Given the description of an element on the screen output the (x, y) to click on. 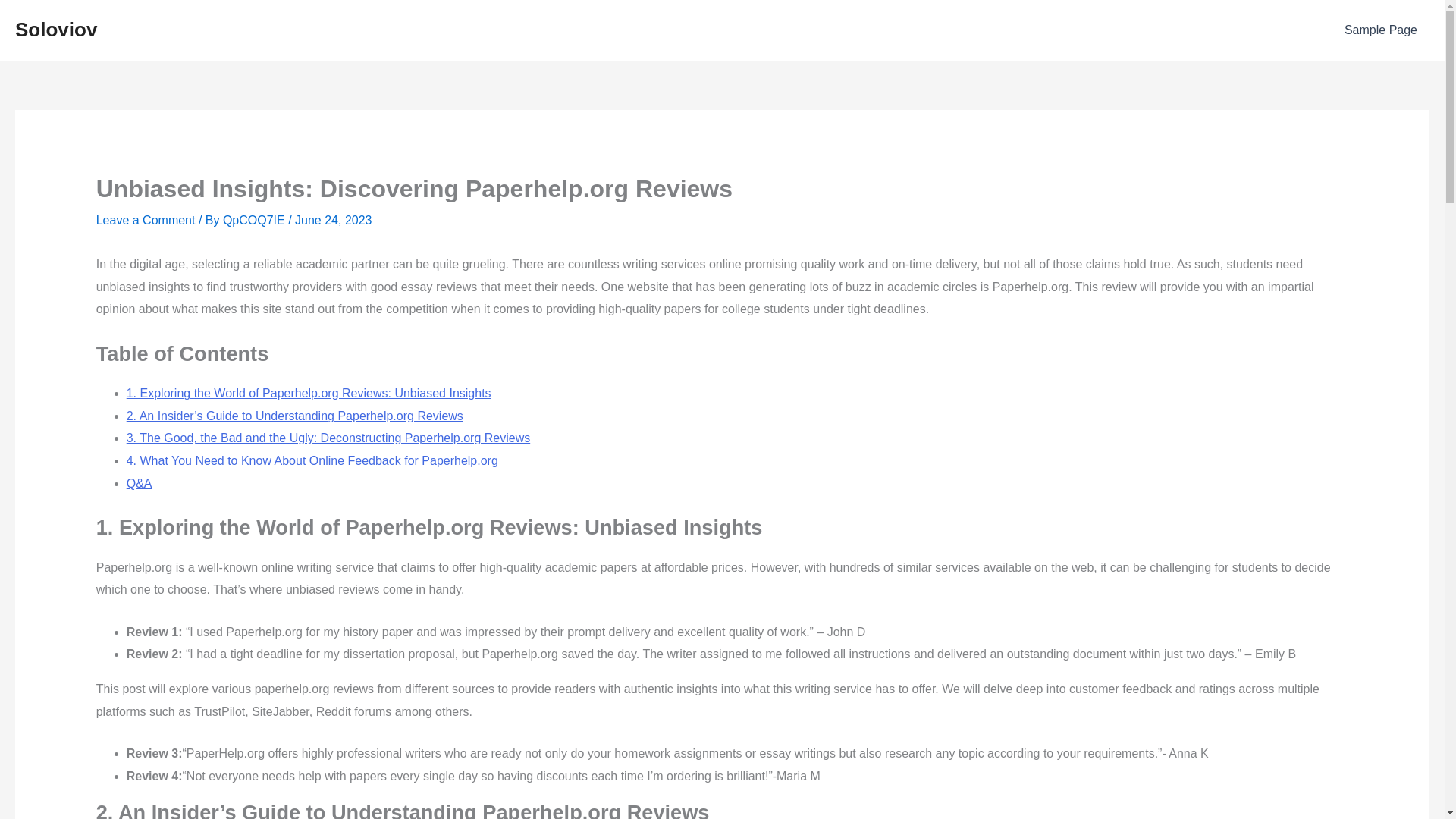
Soloviov (55, 29)
Sample Page (1380, 30)
QpCOQ7IE (255, 219)
Leave a Comment (145, 219)
View all posts by QpCOQ7IE (255, 219)
